Given the description of an element on the screen output the (x, y) to click on. 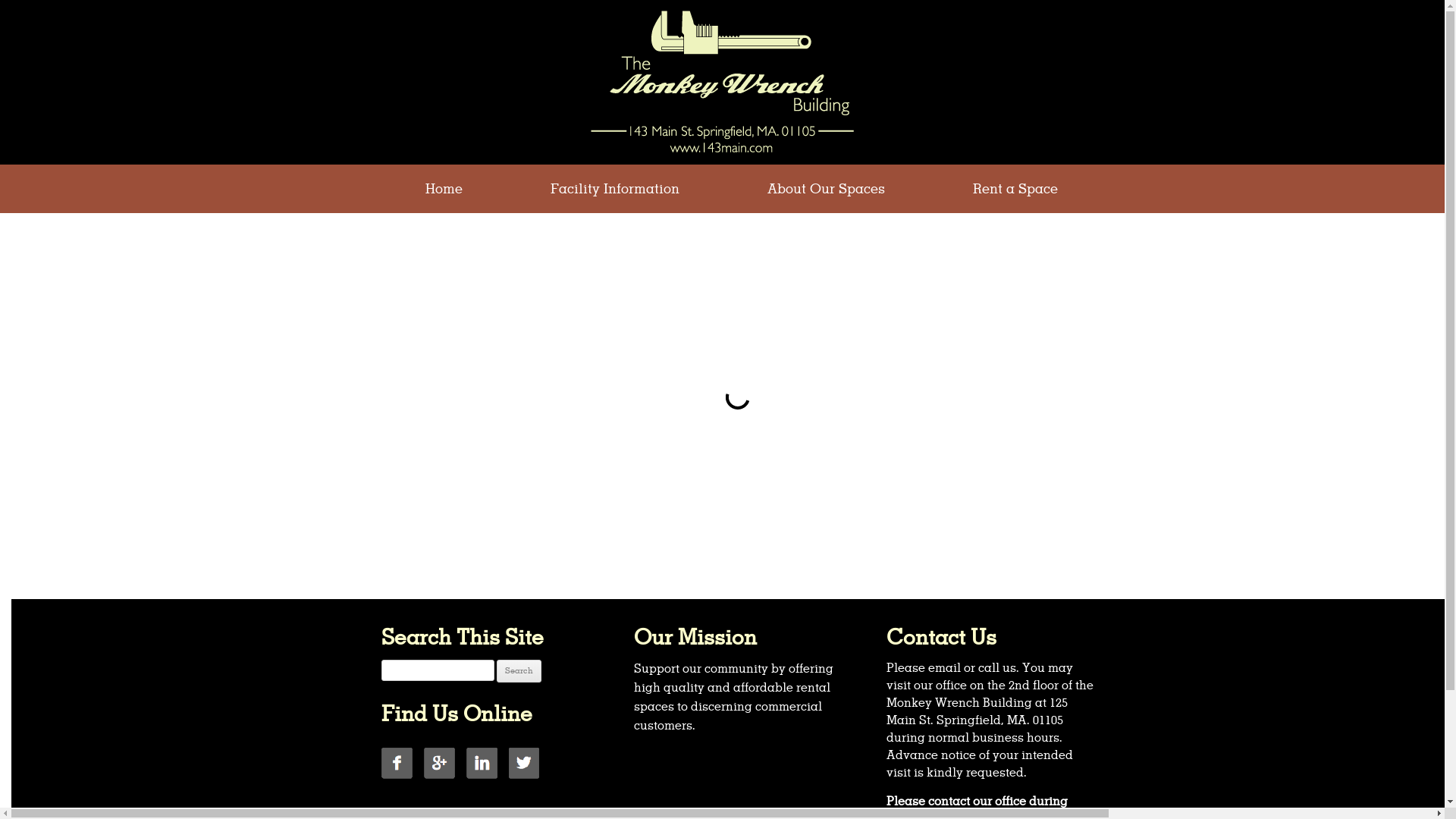
Rent a Space Element type: text (1014, 189)
About Our Spaces Element type: text (825, 189)
143 Main St. Element type: hover (835, 102)
Search Element type: text (517, 670)
Home Element type: text (442, 189)
Facility Information Element type: text (614, 189)
